Given the description of an element on the screen output the (x, y) to click on. 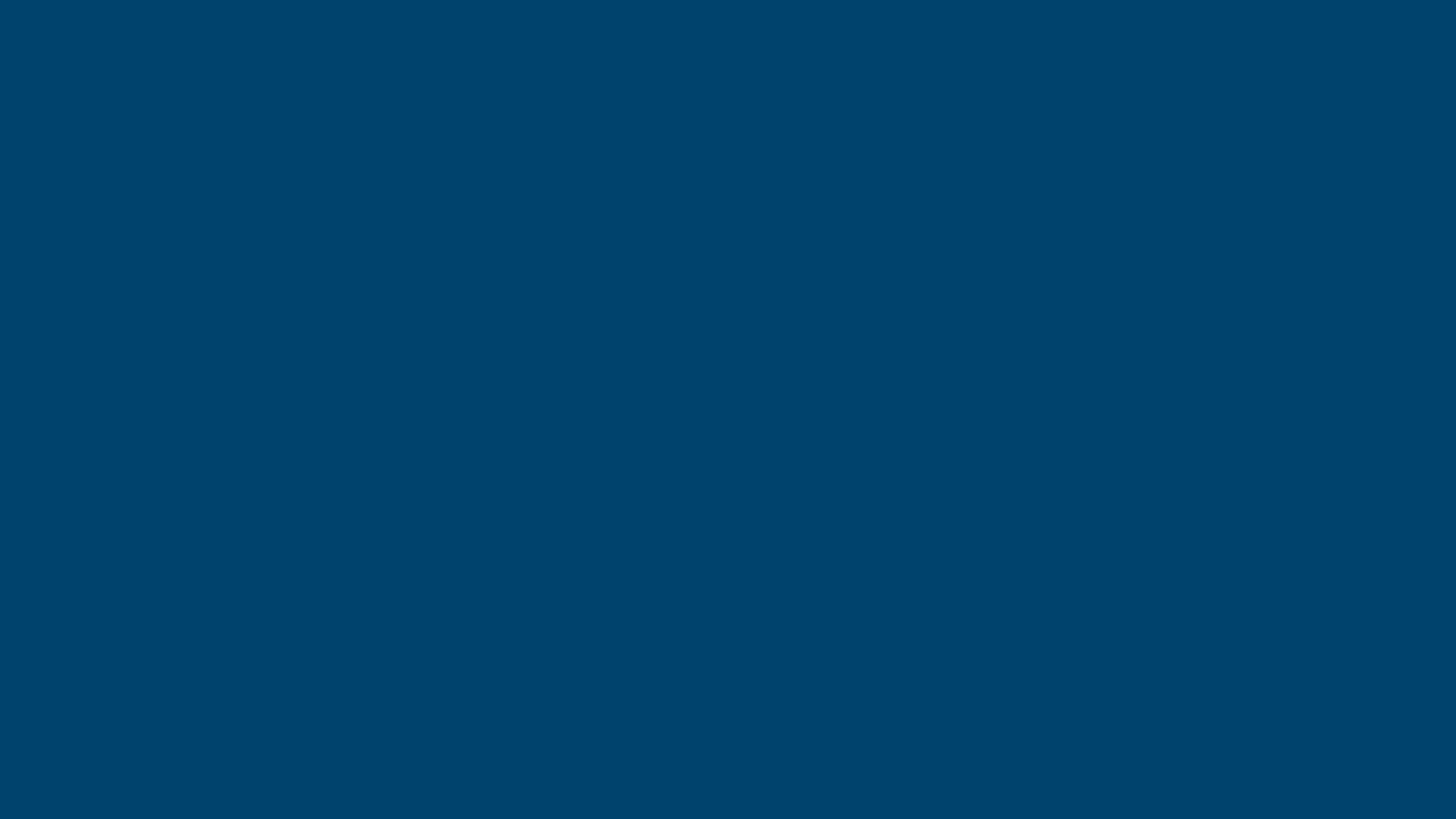
(02) 6180 0100 Element type: text (1027, 556)
Projects Element type: text (782, 569)
Level 1, 45 Ainslie Avenue, Braddon ACT 2612 Element type: text (1063, 618)
About Us Element type: text (784, 542)
Community Element type: text (788, 624)
Construction Element type: text (792, 597)
info@jwland.com.au Element type: text (1035, 679)
The JWLand Promise Element type: text (809, 651)
Contact Us Element type: text (787, 679)
